Given the description of an element on the screen output the (x, y) to click on. 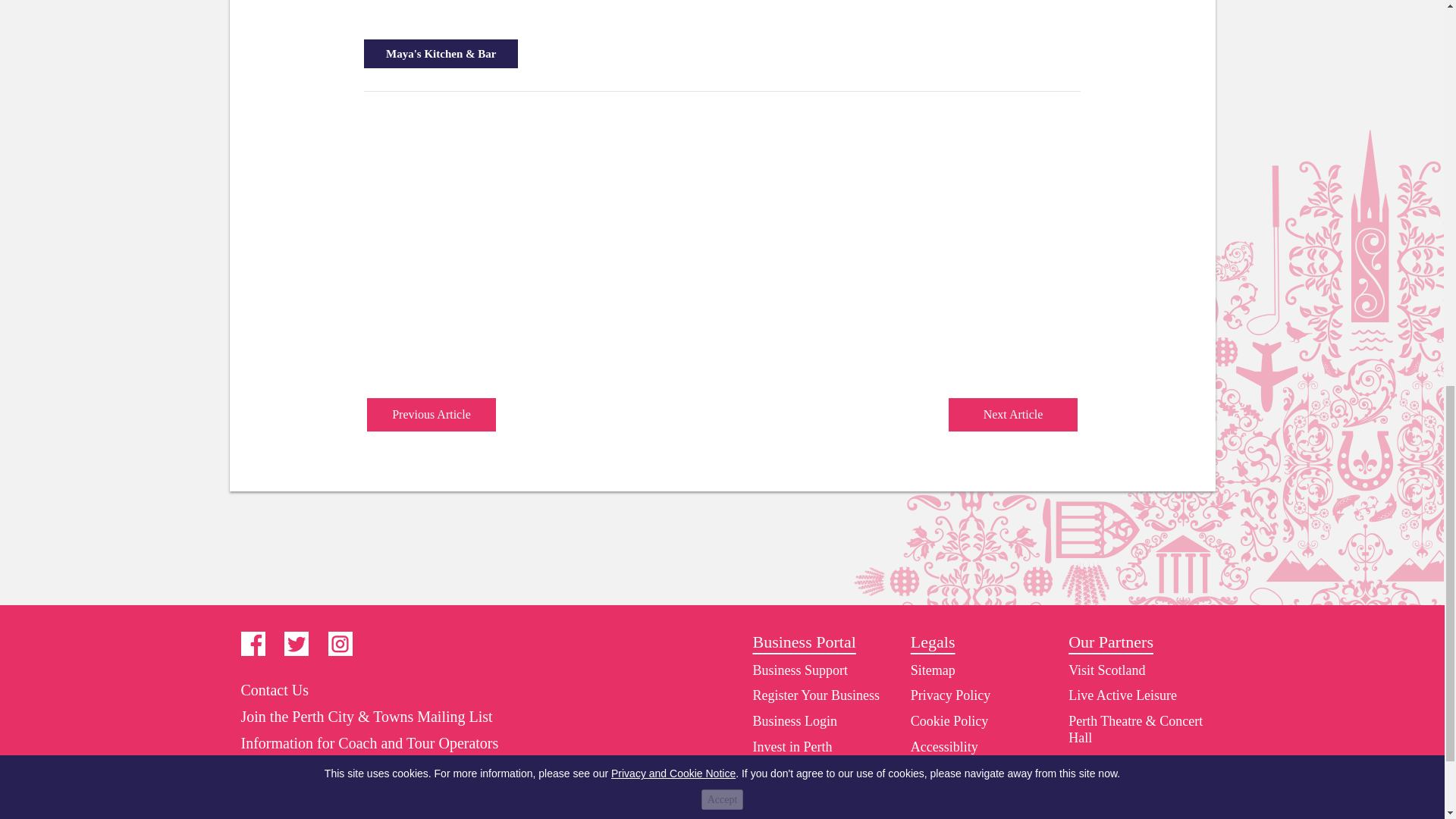
YouTube video player (576, 247)
